Given the description of an element on the screen output the (x, y) to click on. 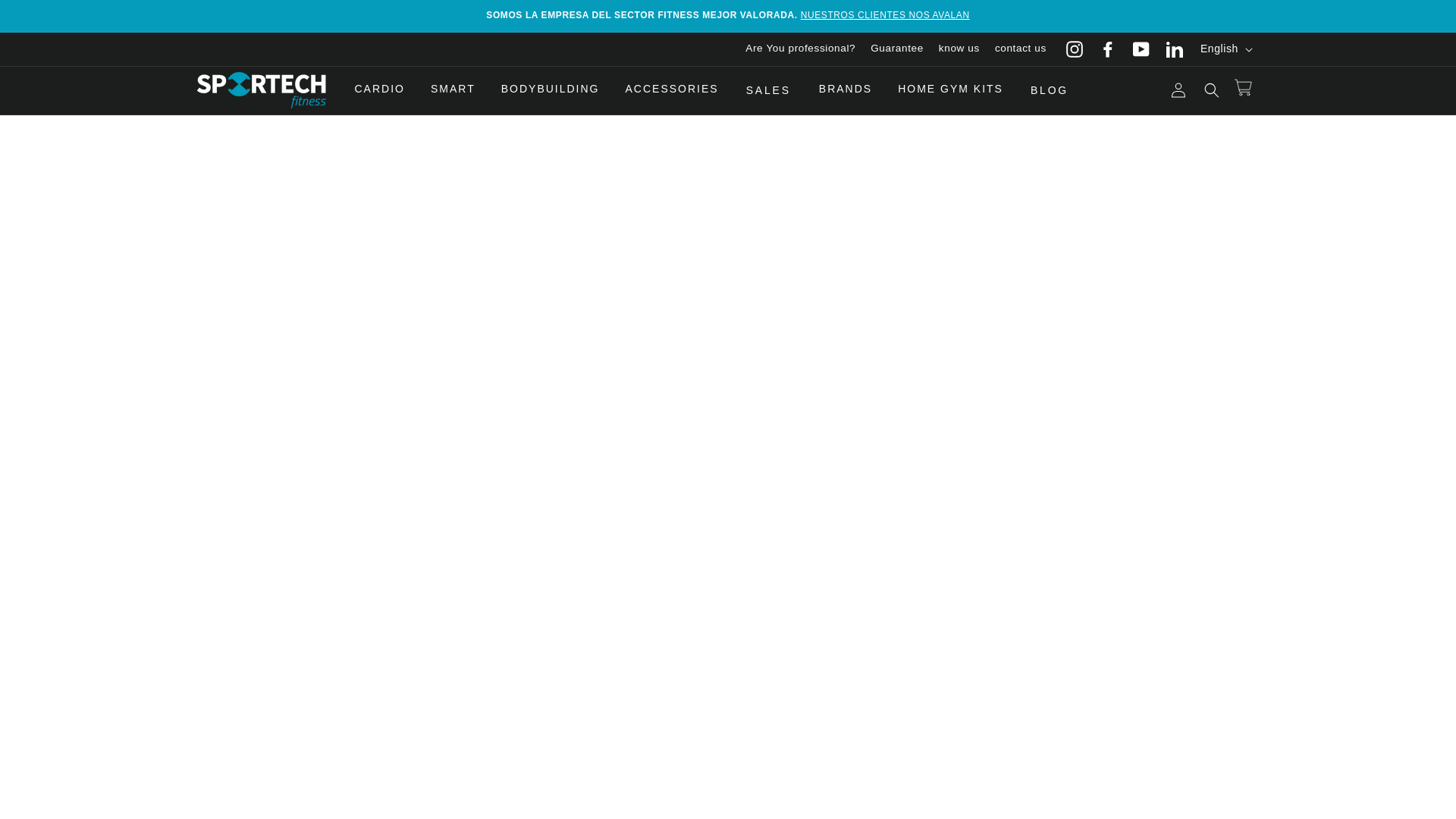
know us (959, 48)
Facebook (1107, 49)
English (1225, 49)
contact us (1020, 48)
Are You professional? (800, 48)
Instagram (1074, 49)
YouTube (1140, 49)
LinkedIn (1174, 49)
Guarantee (897, 48)
NUESTROS CLIENTES NOS AVALAN (884, 14)
